Given the description of an element on the screen output the (x, y) to click on. 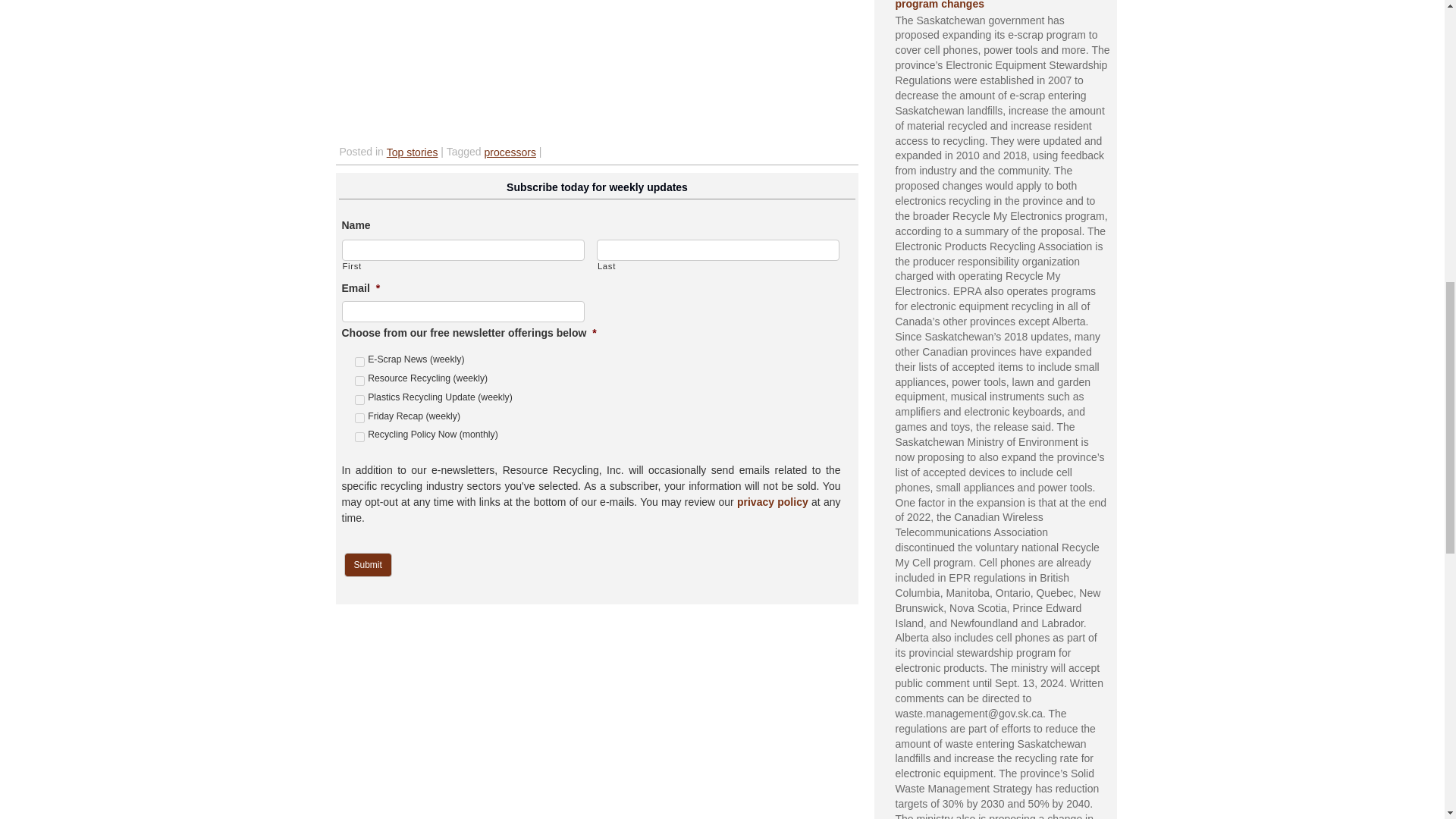
Submit (367, 564)
